Given the description of an element on the screen output the (x, y) to click on. 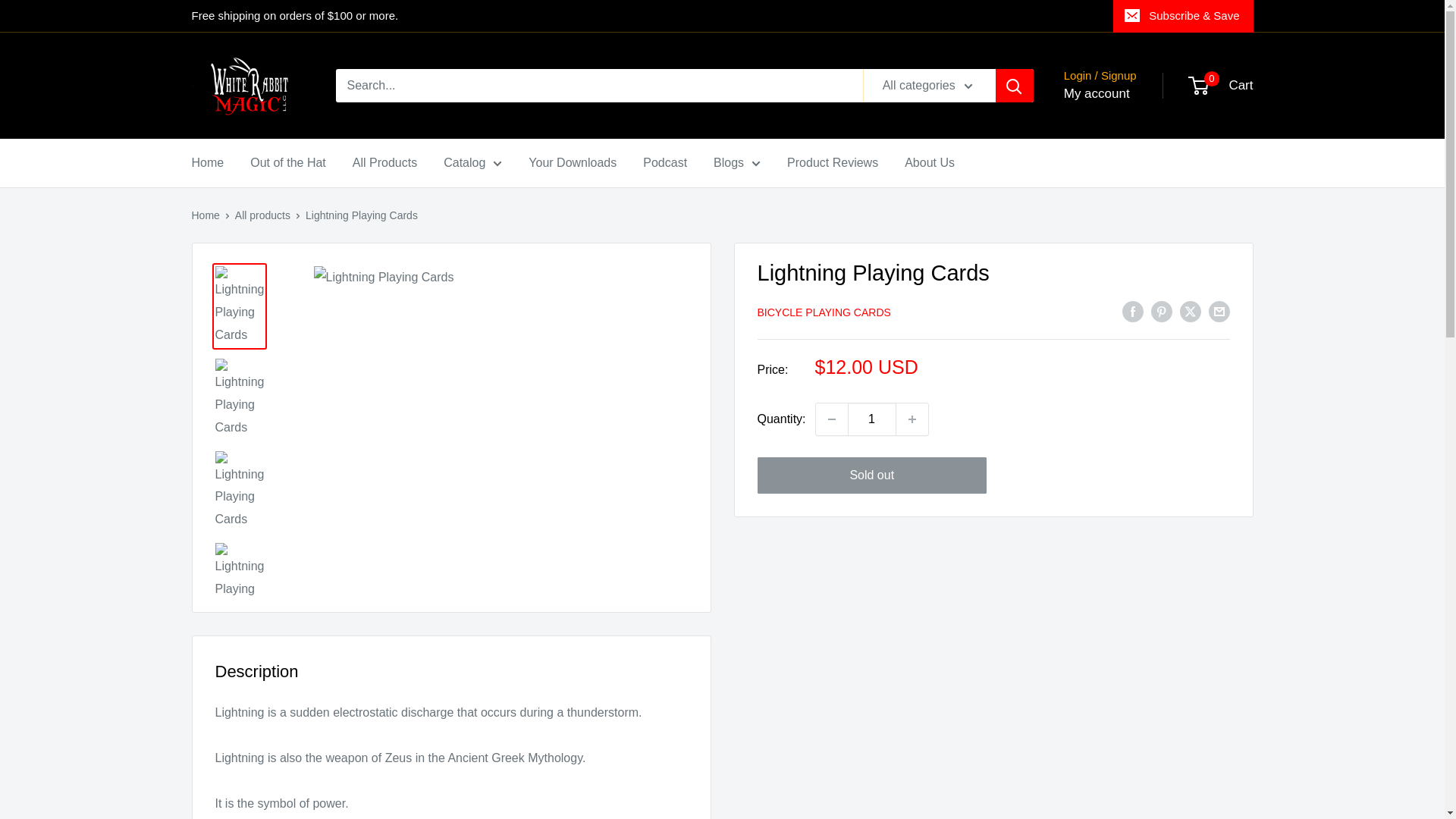
Increase quantity by 1 (912, 418)
Decrease quantity by 1 (831, 418)
1 (871, 418)
